Given the description of an element on the screen output the (x, y) to click on. 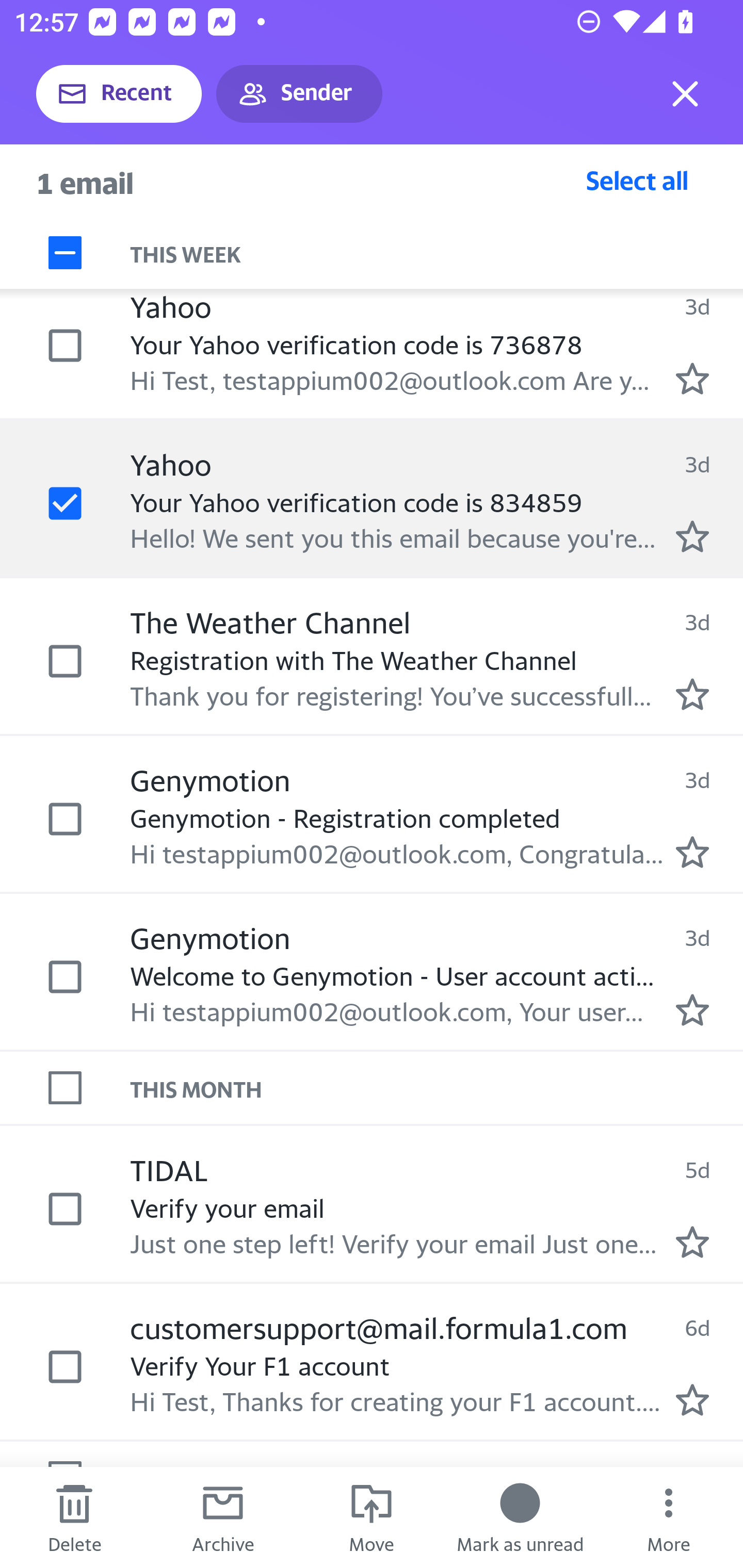
Sender (299, 93)
Exit selection mode (684, 93)
Select all (637, 180)
Mark as starred. (692, 378)
Mark as starred. (692, 537)
Mark as starred. (692, 693)
Mark as starred. (692, 852)
Mark as starred. (692, 1010)
THIS MONTH (436, 1087)
Mark as starred. (692, 1242)
Mark as starred. (692, 1399)
Delete (74, 1517)
Archive (222, 1517)
Move (371, 1517)
Mark as unread (519, 1517)
More (668, 1517)
